Given the description of an element on the screen output the (x, y) to click on. 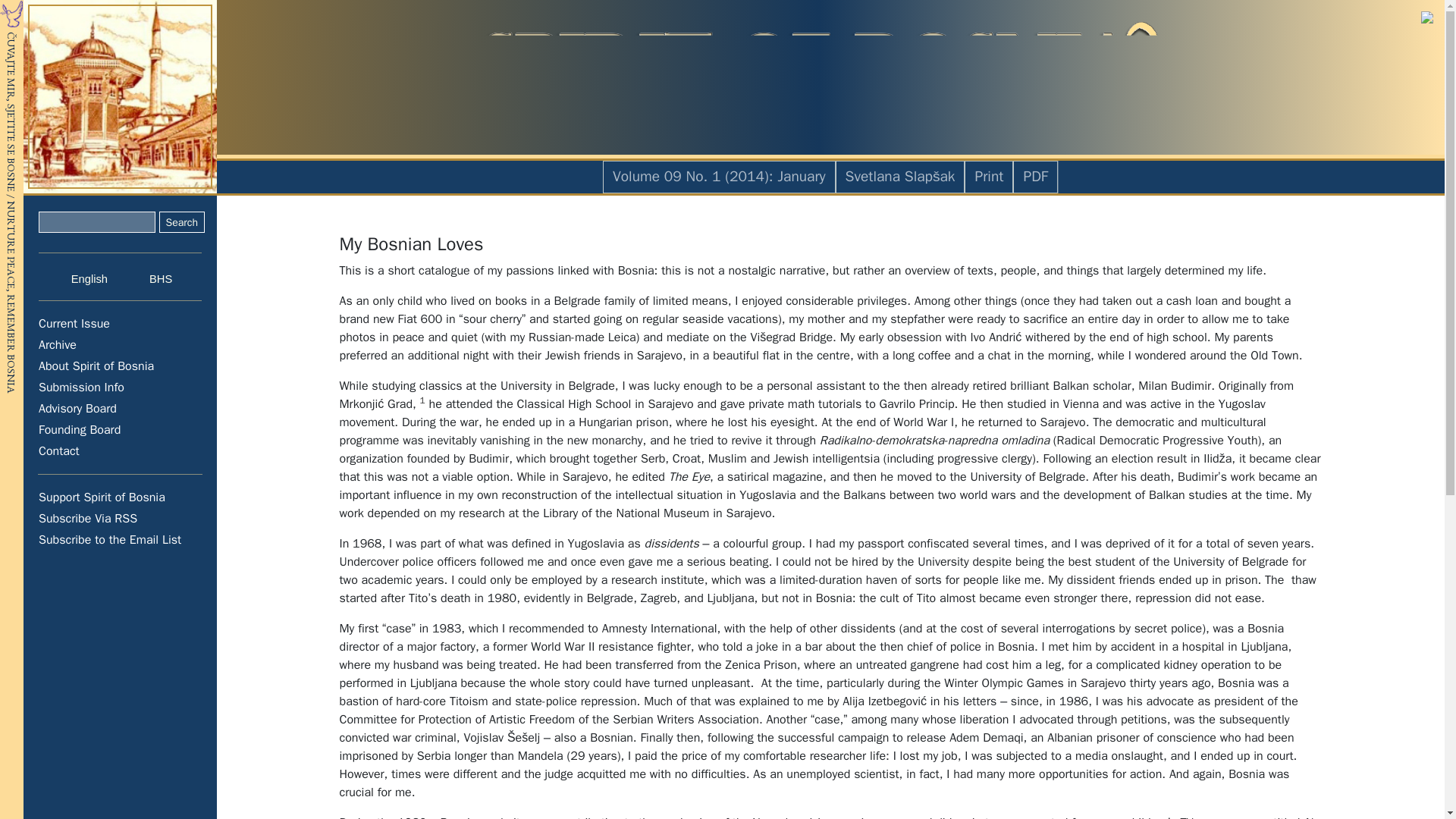
Founding Board (121, 429)
BHS (151, 278)
Search (181, 221)
Submission Info (121, 387)
Subscribe to the Email List (121, 539)
Print (988, 176)
Subscribe Via RSS (121, 518)
Current Issue (121, 323)
Archive (121, 344)
About Spirit of Bosnia (121, 365)
Contact (121, 451)
Support Spirit of Bosnia (121, 496)
PDF (1035, 176)
PDF (1035, 176)
Advisory Board (121, 408)
